Given the description of an element on the screen output the (x, y) to click on. 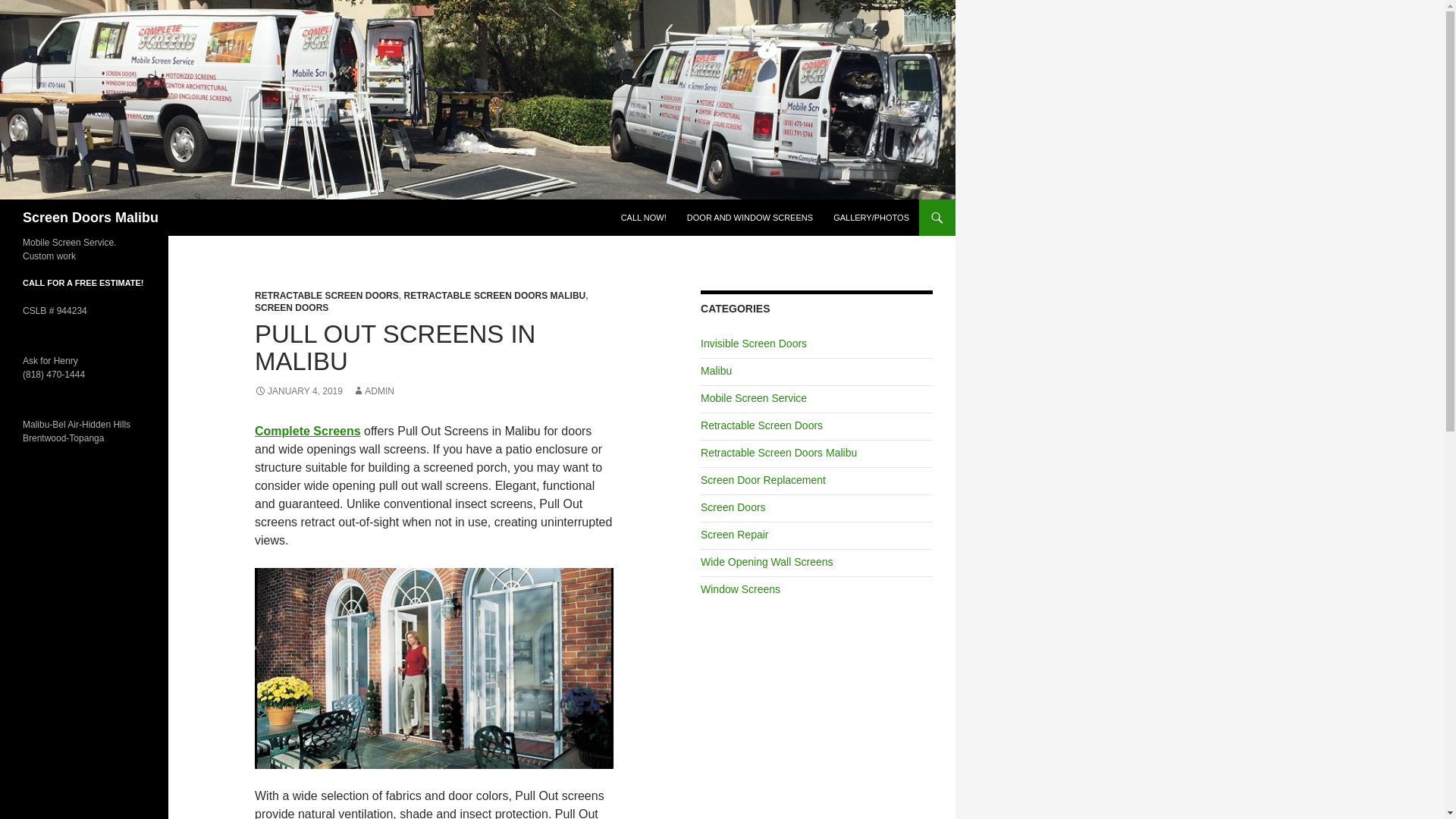
Wide Opening Wall Screens (766, 562)
SCREEN DOORS (291, 307)
Screen Repair (734, 534)
Screen Doors Malibu (90, 217)
Screen Doors (732, 507)
Screen Door Replacement (762, 480)
Complete Screens (307, 431)
Window Screens (740, 589)
Invisible Screen Doors (753, 343)
JANUARY 4, 2019 (298, 390)
ADMIN (373, 390)
RETRACTABLE SCREEN DOORS (326, 295)
Retractable Screen Doors (761, 425)
Mobile Screen Service (753, 398)
